Given the description of an element on the screen output the (x, y) to click on. 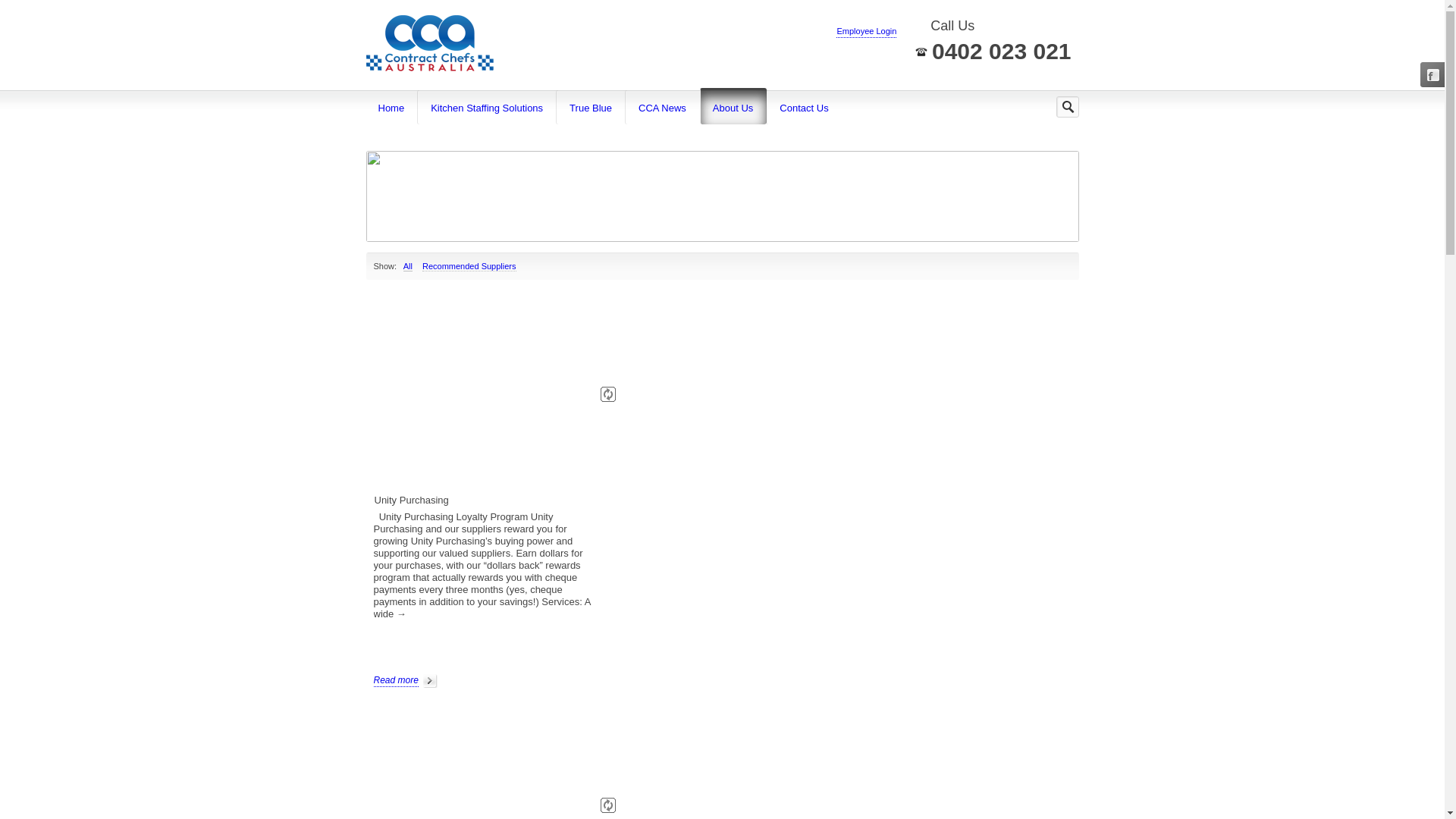
Kitchen Staffing Solutions Element type: text (487, 107)
True Blue Element type: text (591, 107)
Contract Chefs Australia Element type: hover (428, 45)
Search Element type: text (11, 6)
All Element type: text (407, 266)
Skip to content Element type: text (365, 89)
Contact Us Element type: text (804, 107)
CCA News Element type: text (662, 107)
Read more Element type: text (404, 680)
Employee Login Element type: text (866, 31)
About Us Element type: text (733, 107)
Recommended Suppliers Element type: text (469, 266)
Home Element type: text (392, 107)
